Given the description of an element on the screen output the (x, y) to click on. 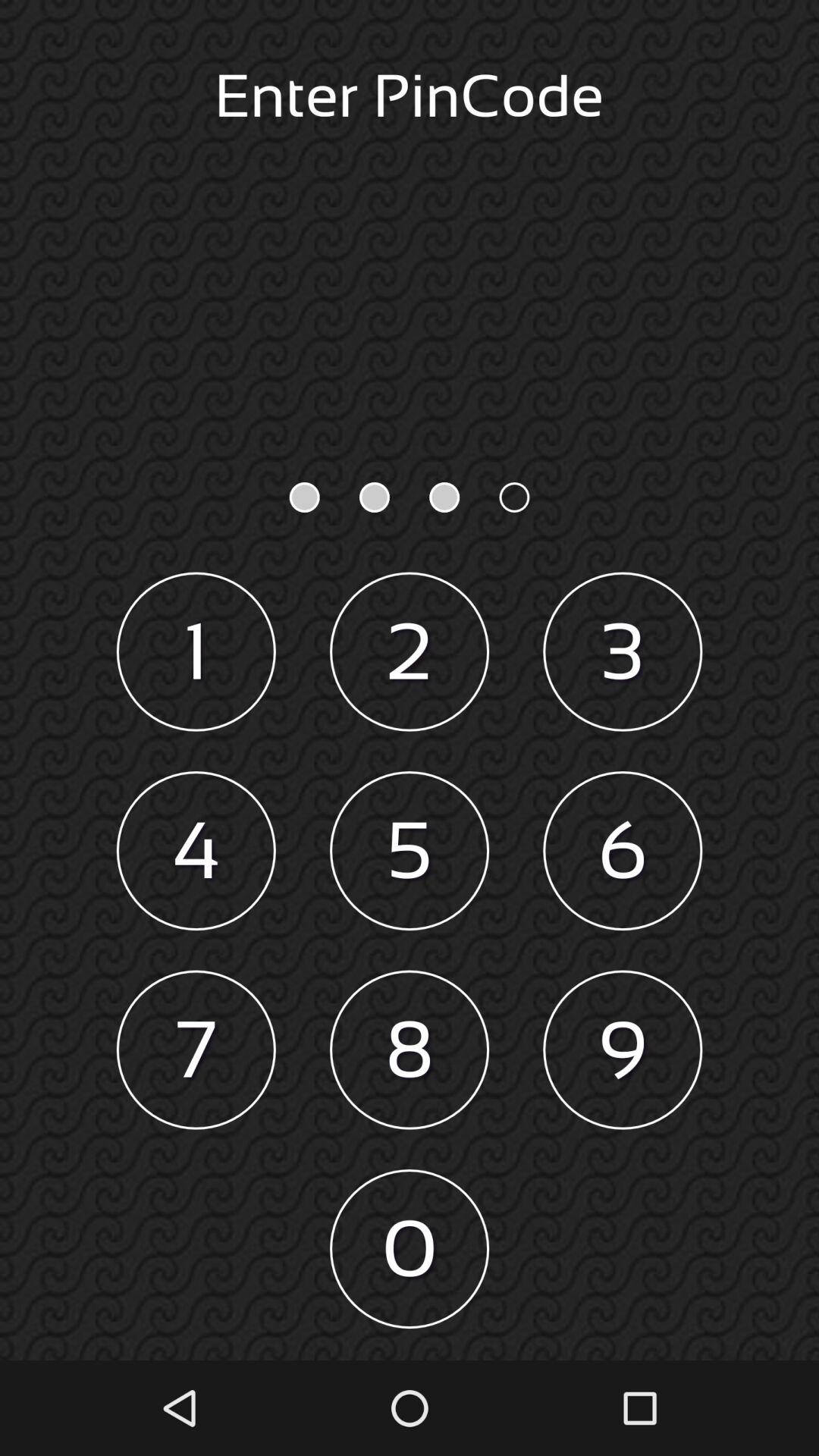
scroll to the 5 (409, 850)
